Given the description of an element on the screen output the (x, y) to click on. 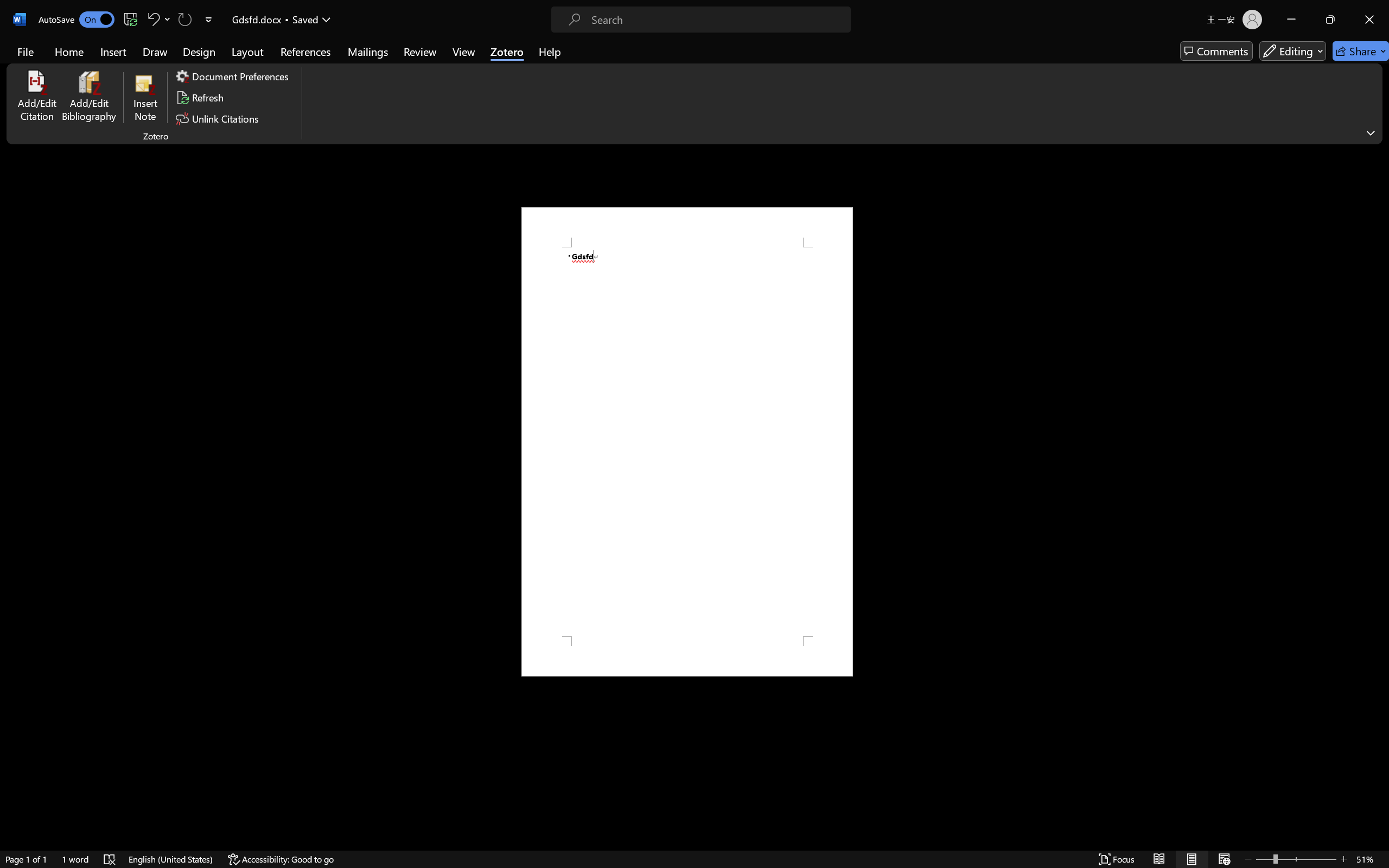
Page 1 content (686, 441)
